Given the description of an element on the screen output the (x, y) to click on. 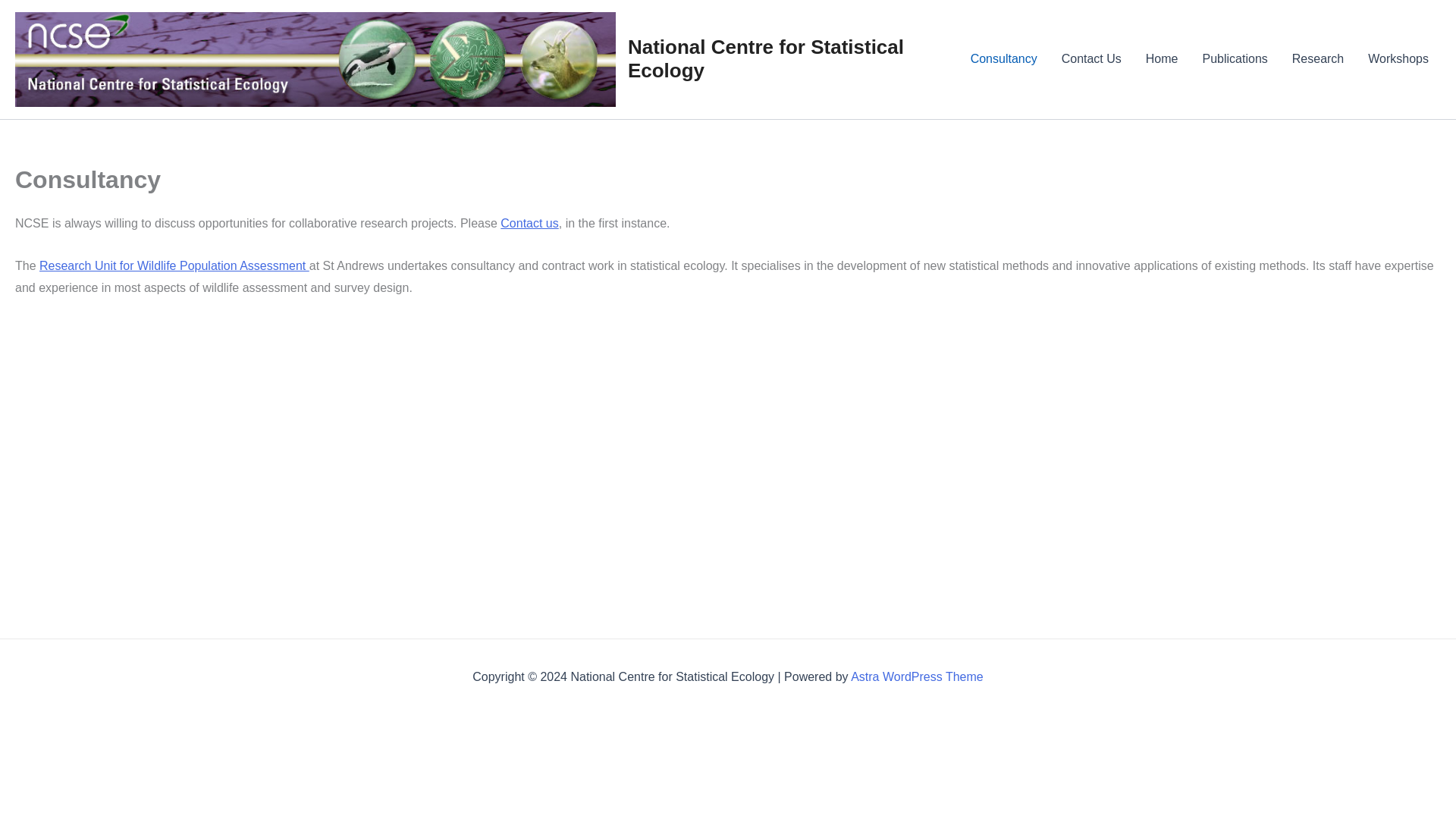
National Centre for Statistical Ecology (765, 58)
Research Unit for Wildlife Population Assessment  (173, 265)
Home (1162, 58)
Workshops (1398, 58)
Research (1317, 58)
Publications (1235, 58)
Contact Us (1091, 58)
Consultancy (1003, 58)
Astra WordPress Theme (917, 676)
Contact us (528, 223)
